Given the description of an element on the screen output the (x, y) to click on. 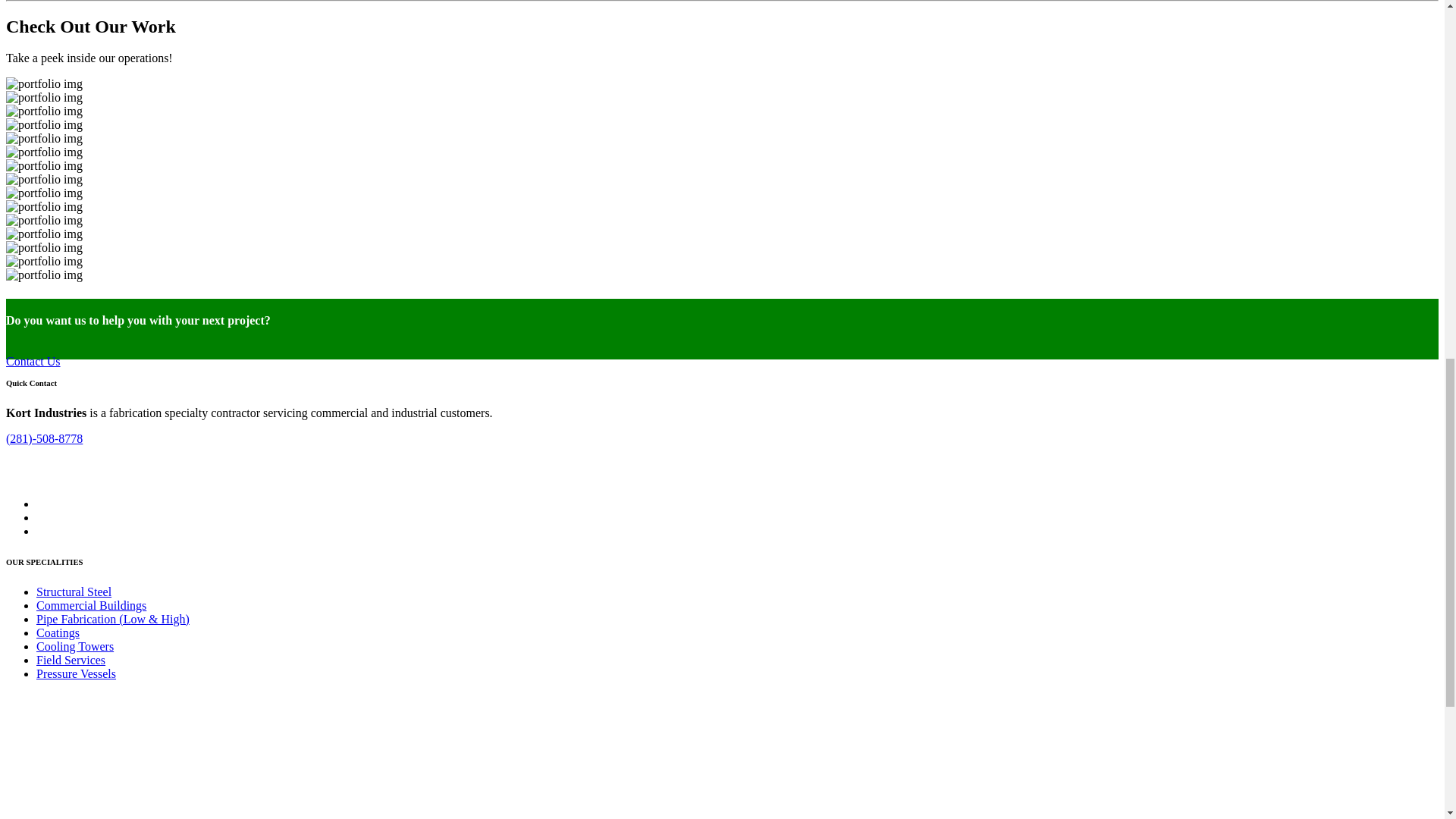
Cooling Towers (74, 645)
Field Services (70, 659)
Commercial Buildings (91, 604)
Structural Steel (74, 591)
Contact Us (33, 360)
Pressure Vessels (76, 673)
Coatings (58, 632)
